Given the description of an element on the screen output the (x, y) to click on. 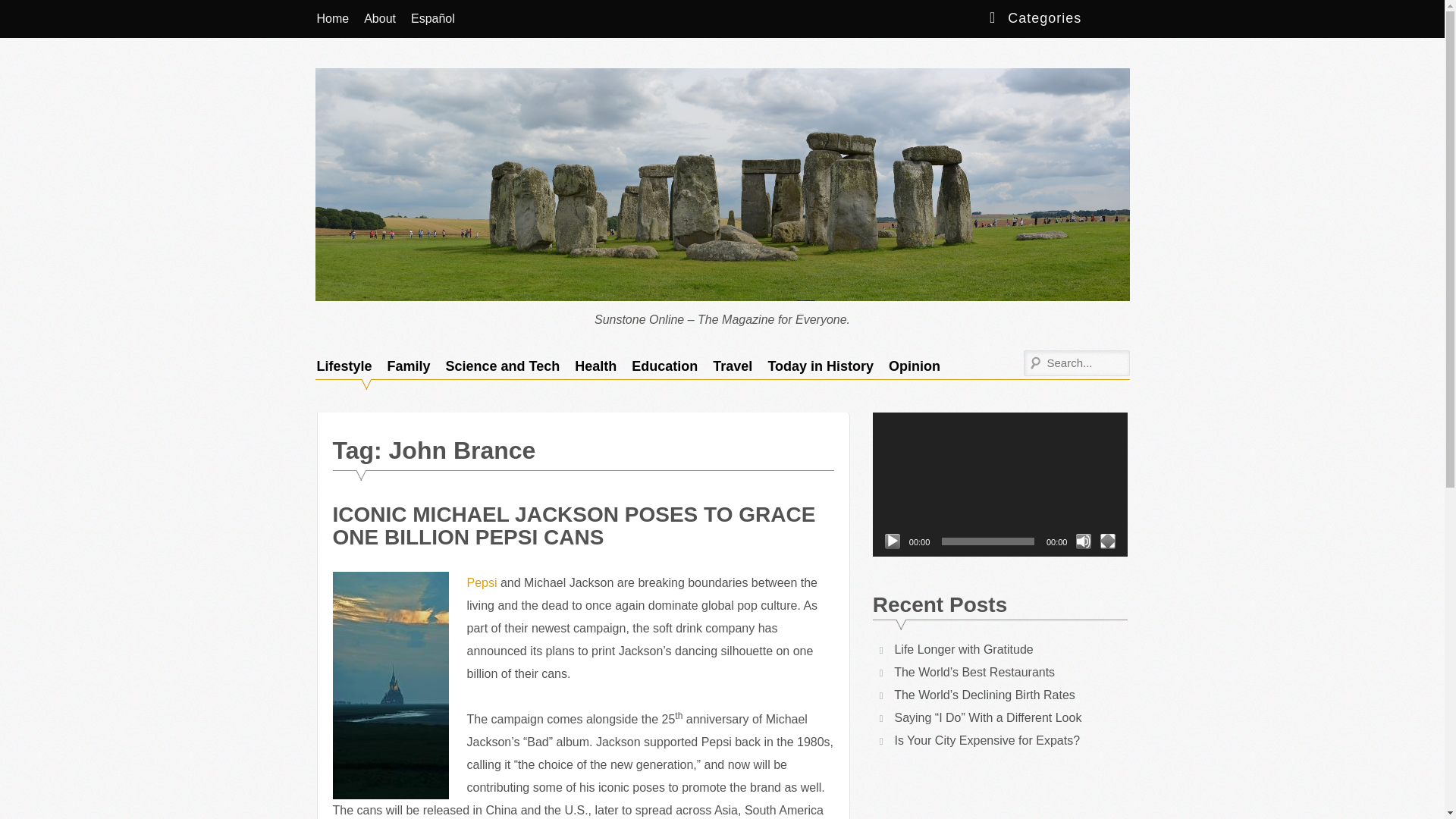
Play (892, 540)
About (379, 18)
Home (332, 18)
Mute (1082, 540)
Fullscreen (1107, 540)
